Given the description of an element on the screen output the (x, y) to click on. 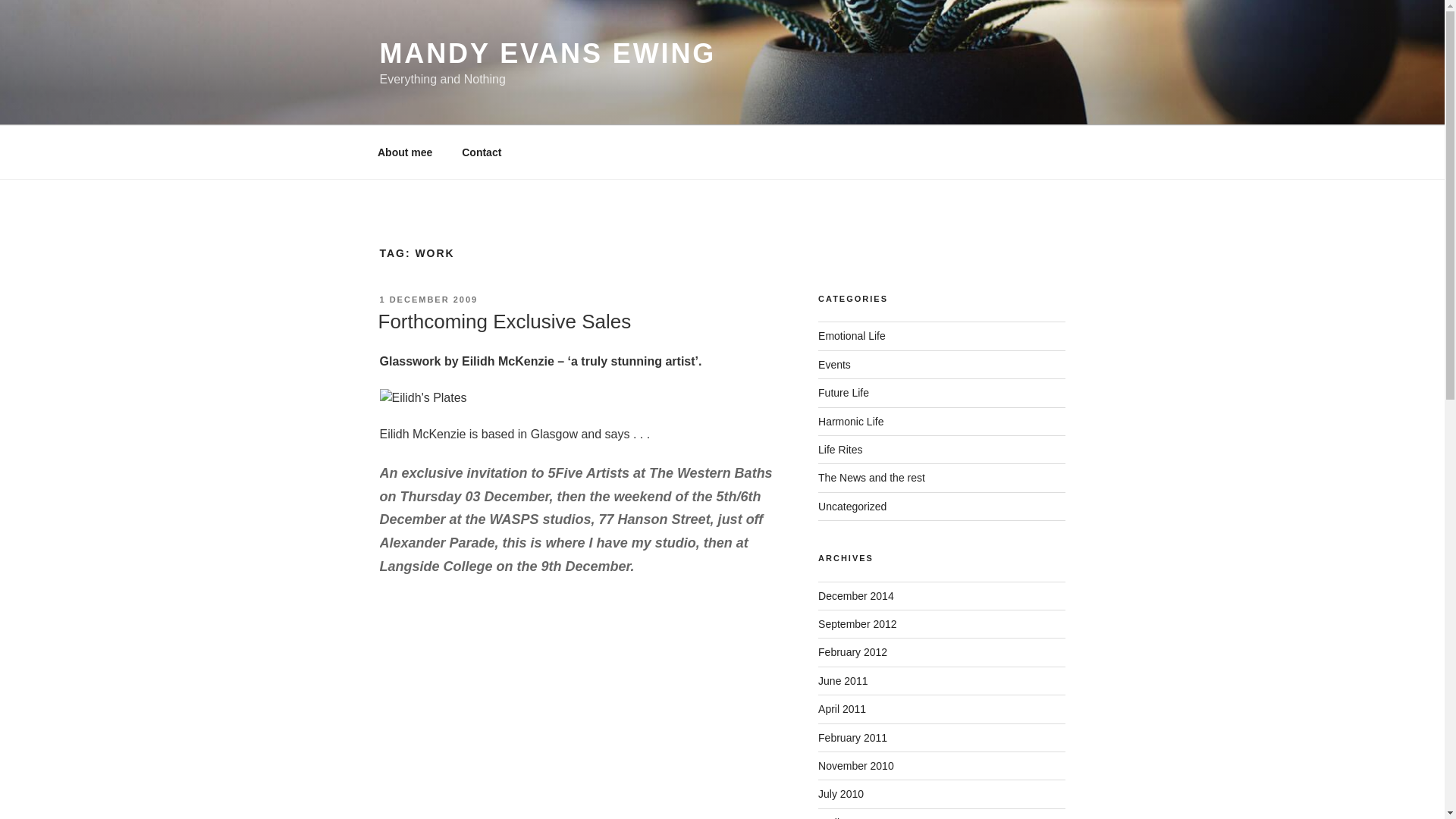
February 2012 (852, 652)
July 2010 (840, 793)
MANDY EVANS EWING (547, 52)
February 2011 (852, 737)
April 2010 (842, 817)
June 2011 (842, 680)
The News and the rest (871, 477)
Future Life (843, 392)
Emotional Life (851, 336)
Life Rites (839, 449)
Events (834, 364)
Contact (481, 151)
1 DECEMBER 2009 (427, 298)
Forthcoming Exclusive Sales (503, 321)
